Given the description of an element on the screen output the (x, y) to click on. 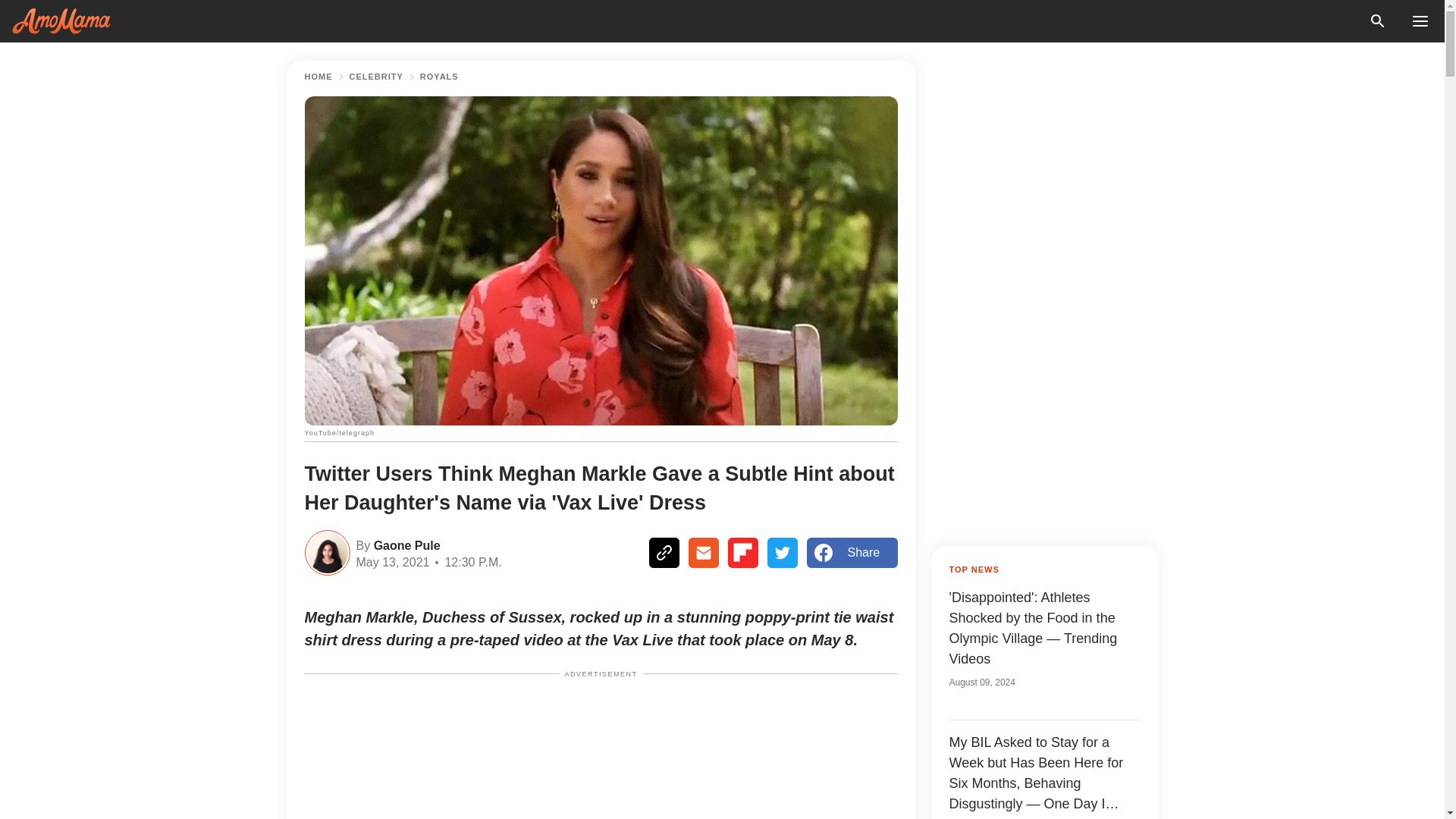
Gaone Pule (404, 544)
CELEBRITY (376, 76)
ROYALS (439, 76)
HOME (318, 76)
